Given the description of an element on the screen output the (x, y) to click on. 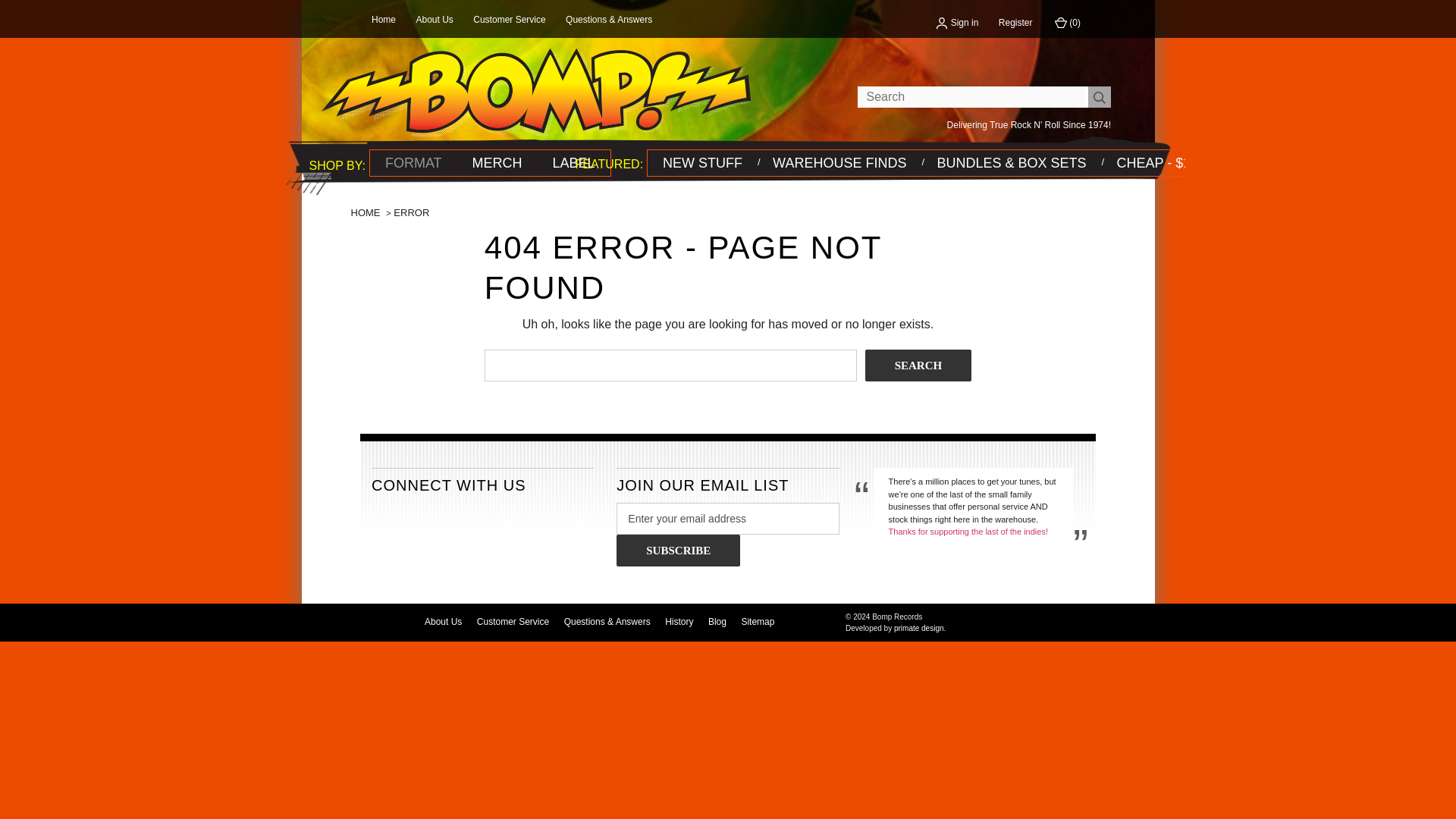
FORMAT (413, 162)
NEW STUFF (702, 162)
About Us (433, 19)
HOME (365, 212)
Search (917, 365)
Sign in (957, 22)
Register (1015, 22)
NEW STUFF (702, 162)
WAREHOUSE FINDS (839, 162)
Bomp Records (536, 93)
MERCH (497, 162)
Home (383, 19)
Customer Service (508, 19)
ONE ONLY (1010, 162)
LABEL (573, 162)
